Given the description of an element on the screen output the (x, y) to click on. 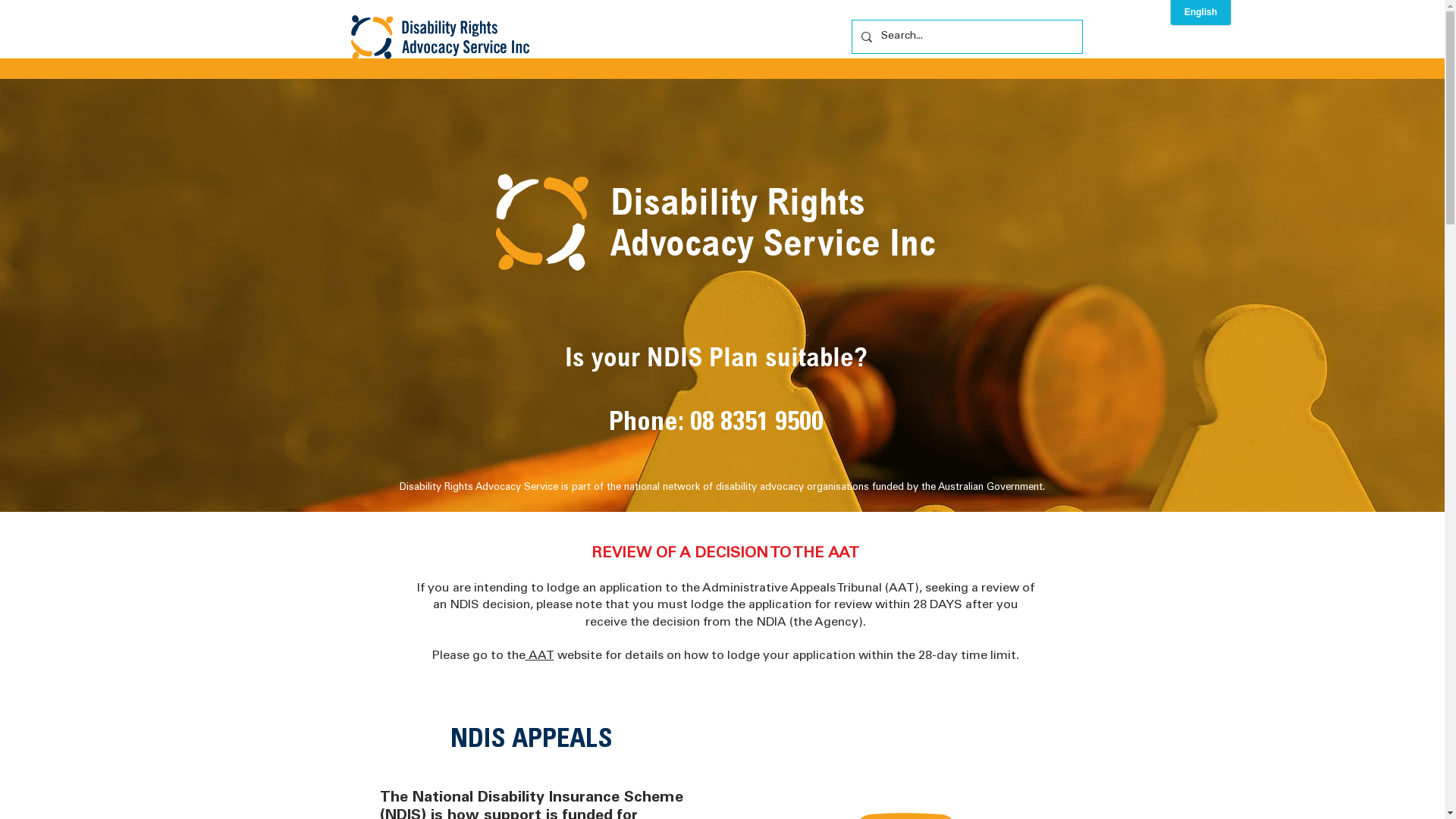
Phone: 08 8351 9500 Element type: text (715, 420)
 AAT Element type: text (538, 655)
